Given the description of an element on the screen output the (x, y) to click on. 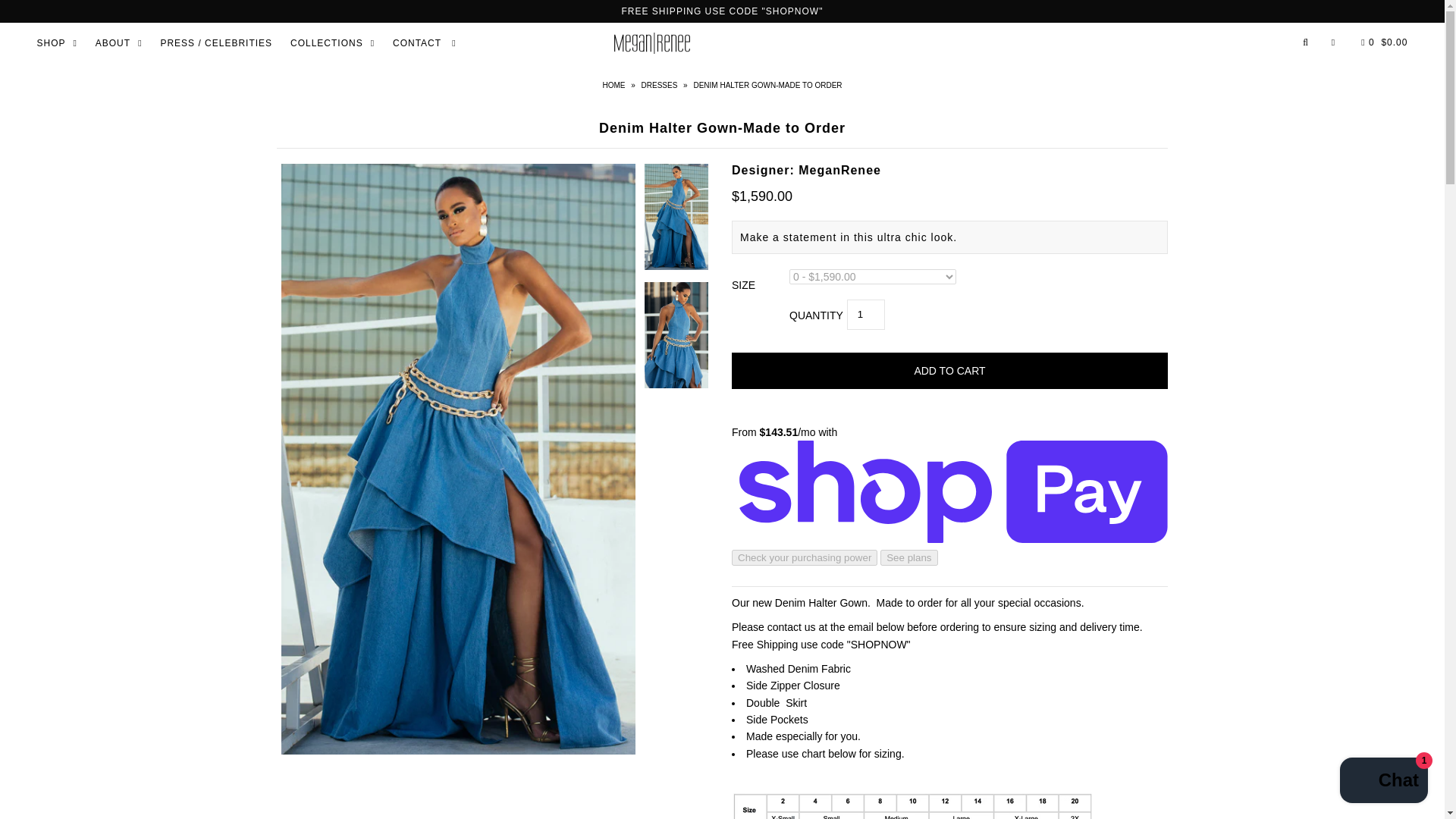
HOME (615, 85)
ABOUT (118, 42)
Add to Cart (949, 370)
DRESSES (661, 85)
COLLECTIONS (331, 42)
SHOP (56, 42)
CONTACT (424, 42)
1 (866, 314)
Home (615, 85)
